Given the description of an element on the screen output the (x, y) to click on. 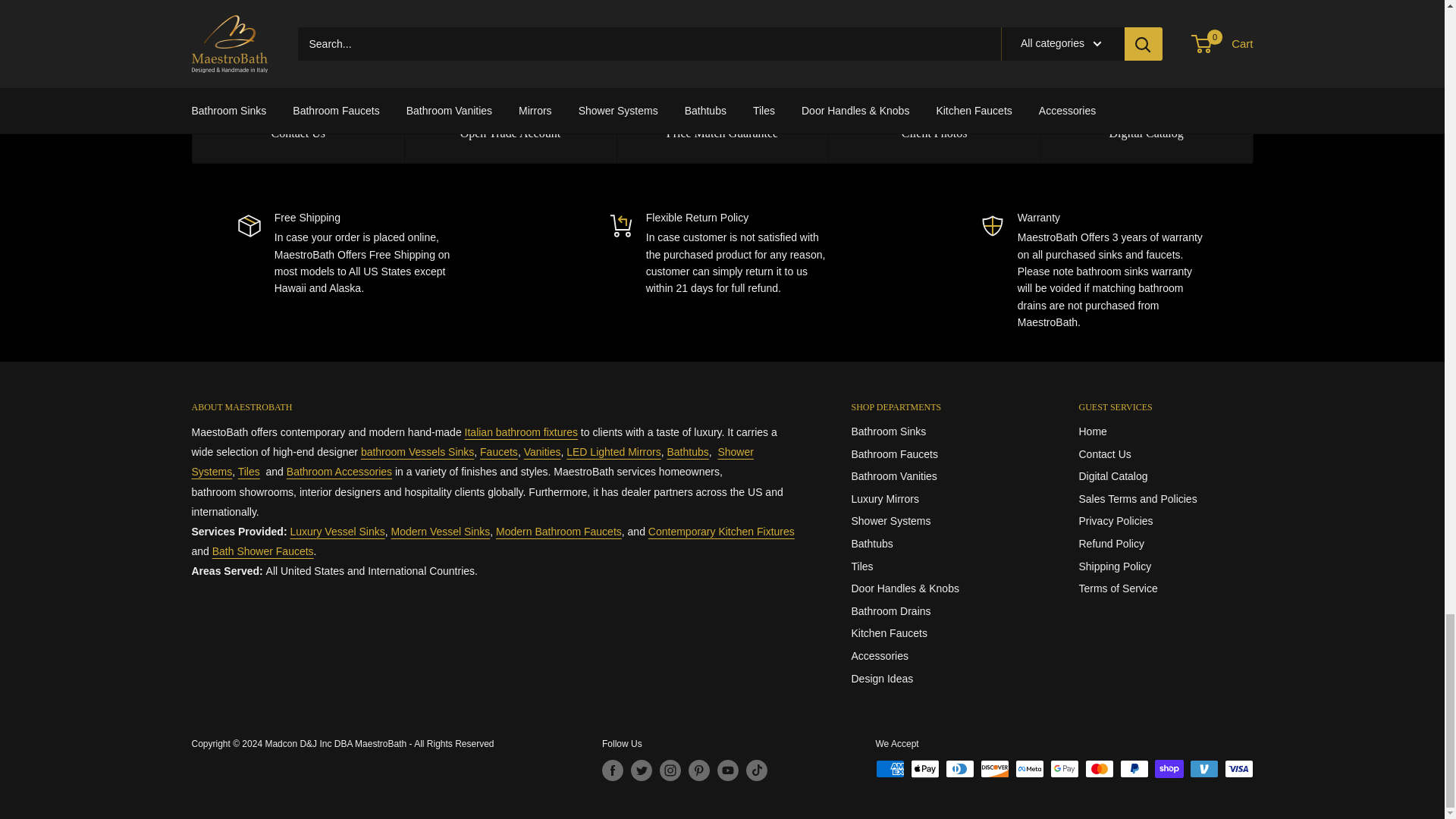
Bathroom Faucets (499, 451)
Bathtubs (687, 451)
Bathroom Vanities (542, 451)
Luxury Mirrors (613, 451)
Vessel Sinks (440, 531)
Tiles (249, 471)
Kitchen Faucets (720, 531)
Luxury Vessel Sinks (336, 531)
Shower Systems (471, 461)
Vessel Sinks (417, 451)
Shower Systems (263, 551)
Accessories and Hardware (338, 471)
All Bathroom Faucets (558, 531)
